Given the description of an element on the screen output the (x, y) to click on. 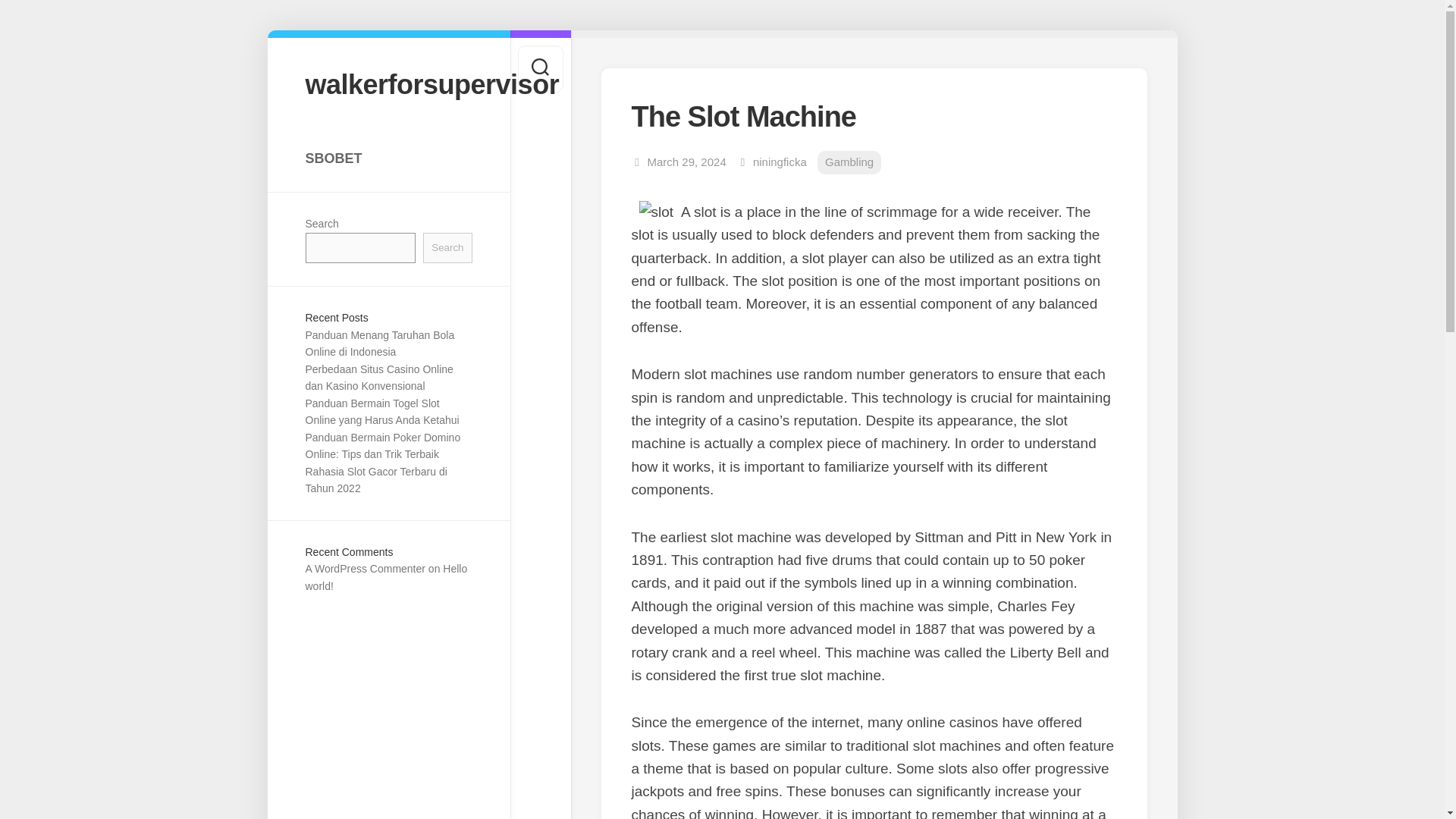
Search (447, 247)
Panduan Bermain Togel Slot Online yang Harus Anda Ketahui (381, 411)
SBOBET (387, 158)
Perbedaan Situs Casino Online dan Kasino Konvensional (378, 378)
Panduan Bermain Poker Domino Online: Tips dan Trik Terbaik (382, 446)
Gambling (848, 162)
A WordPress Commenter (364, 568)
Hello world! (385, 577)
niningficka (779, 161)
walkerforsupervisor (387, 83)
Rahasia Slot Gacor Terbaru di Tahun 2022 (375, 480)
Posts by niningficka (779, 161)
Panduan Menang Taruhan Bola Online di Indonesia (379, 343)
